Given the description of an element on the screen output the (x, y) to click on. 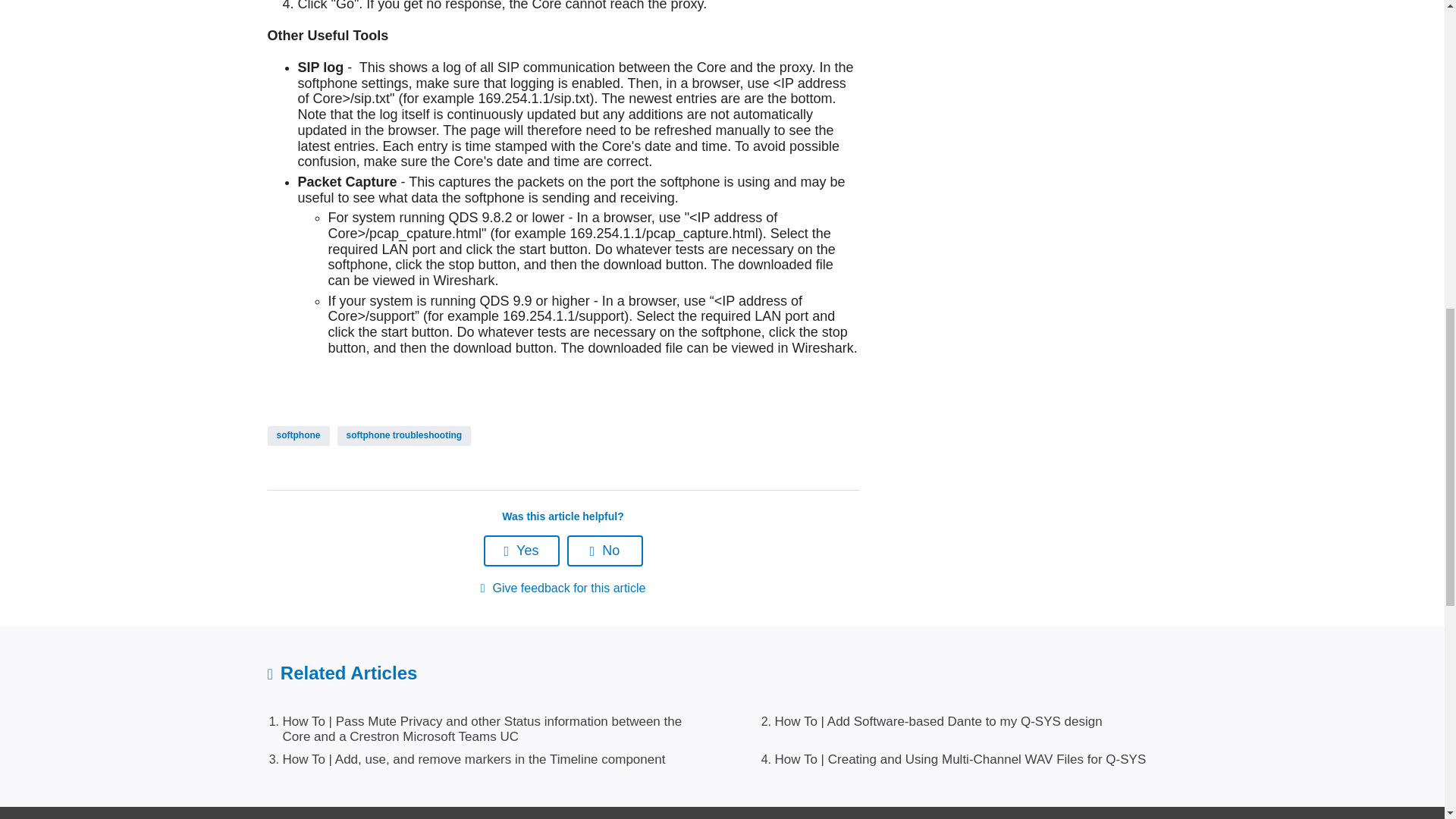
Yes (521, 550)
softphone troubleshooting (403, 435)
No (605, 550)
Give feedback for this article (563, 588)
softphone (297, 435)
